Given the description of an element on the screen output the (x, y) to click on. 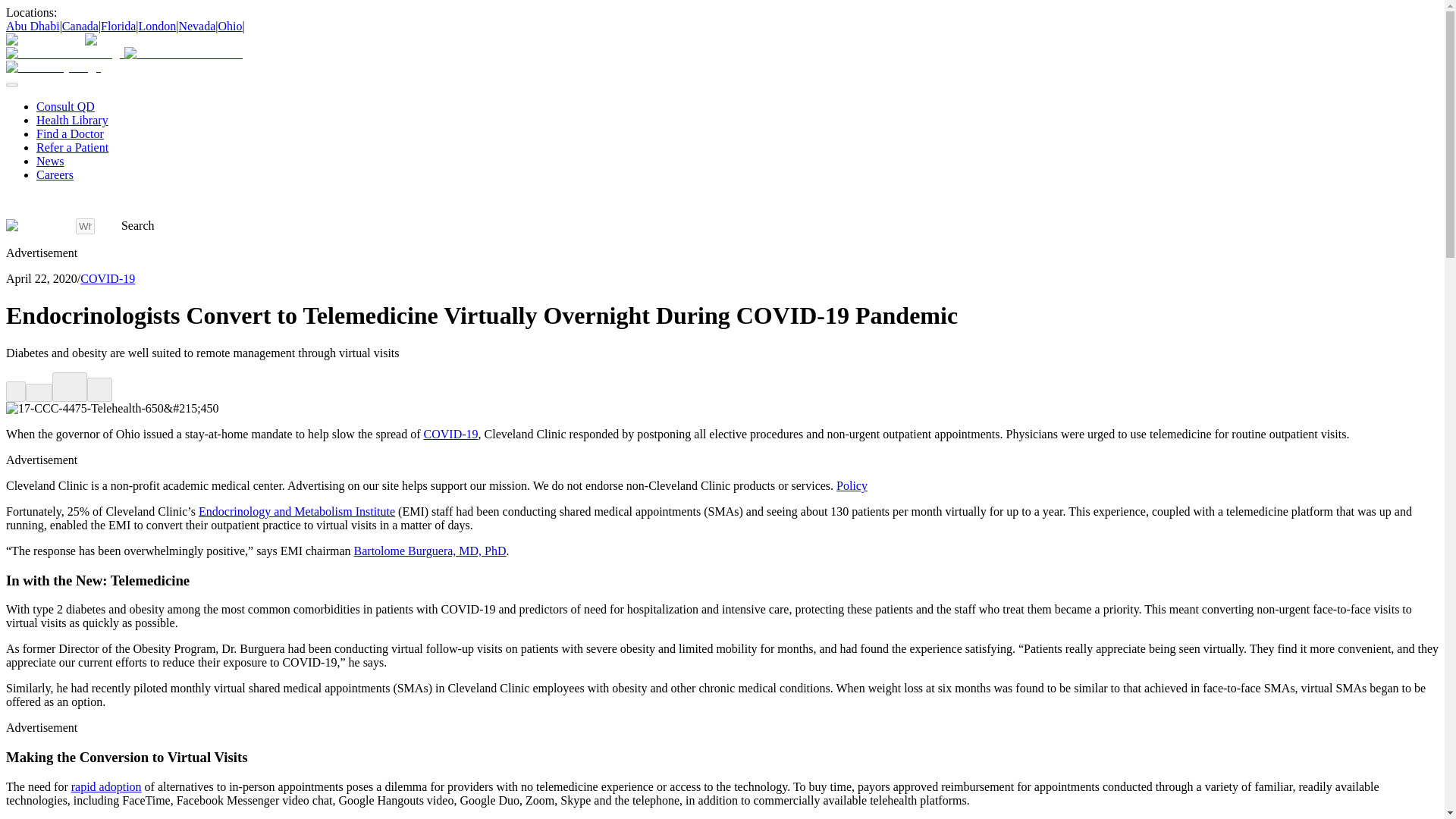
Careers (55, 174)
COVID-19 (107, 278)
Policy (851, 485)
Florida (117, 25)
Find a Doctor (69, 133)
News (50, 160)
Health Library (71, 119)
Bartolome Burguera, MD, PhD (429, 550)
Endocrinology and Metabolism Institute (296, 511)
Nevada (196, 25)
Consult QD (65, 106)
Abu Dhabi (32, 25)
Refer a Patient (71, 146)
London (157, 25)
Canada (80, 25)
